Given the description of an element on the screen output the (x, y) to click on. 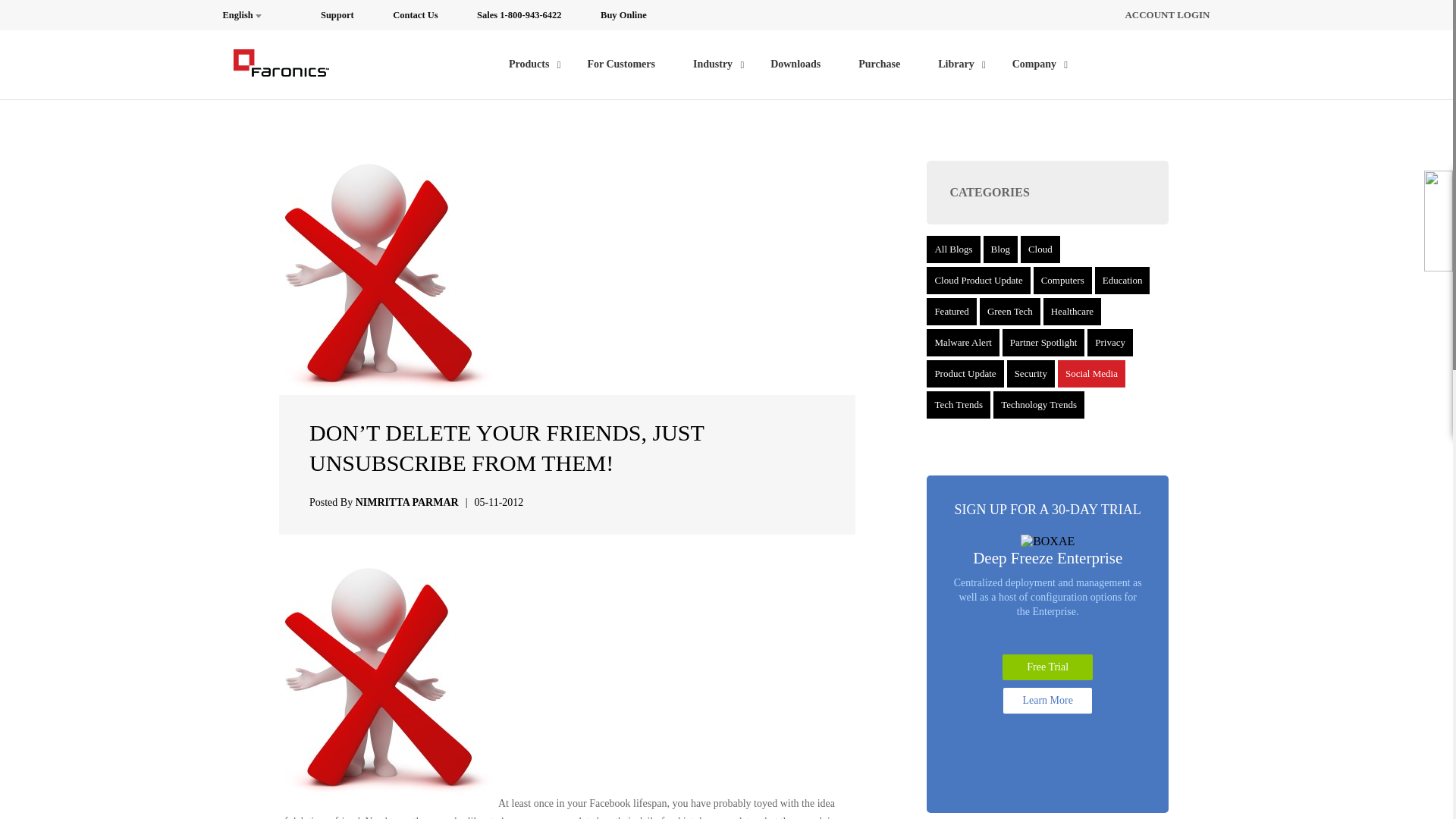
Change Language (251, 14)
